Given the description of an element on the screen output the (x, y) to click on. 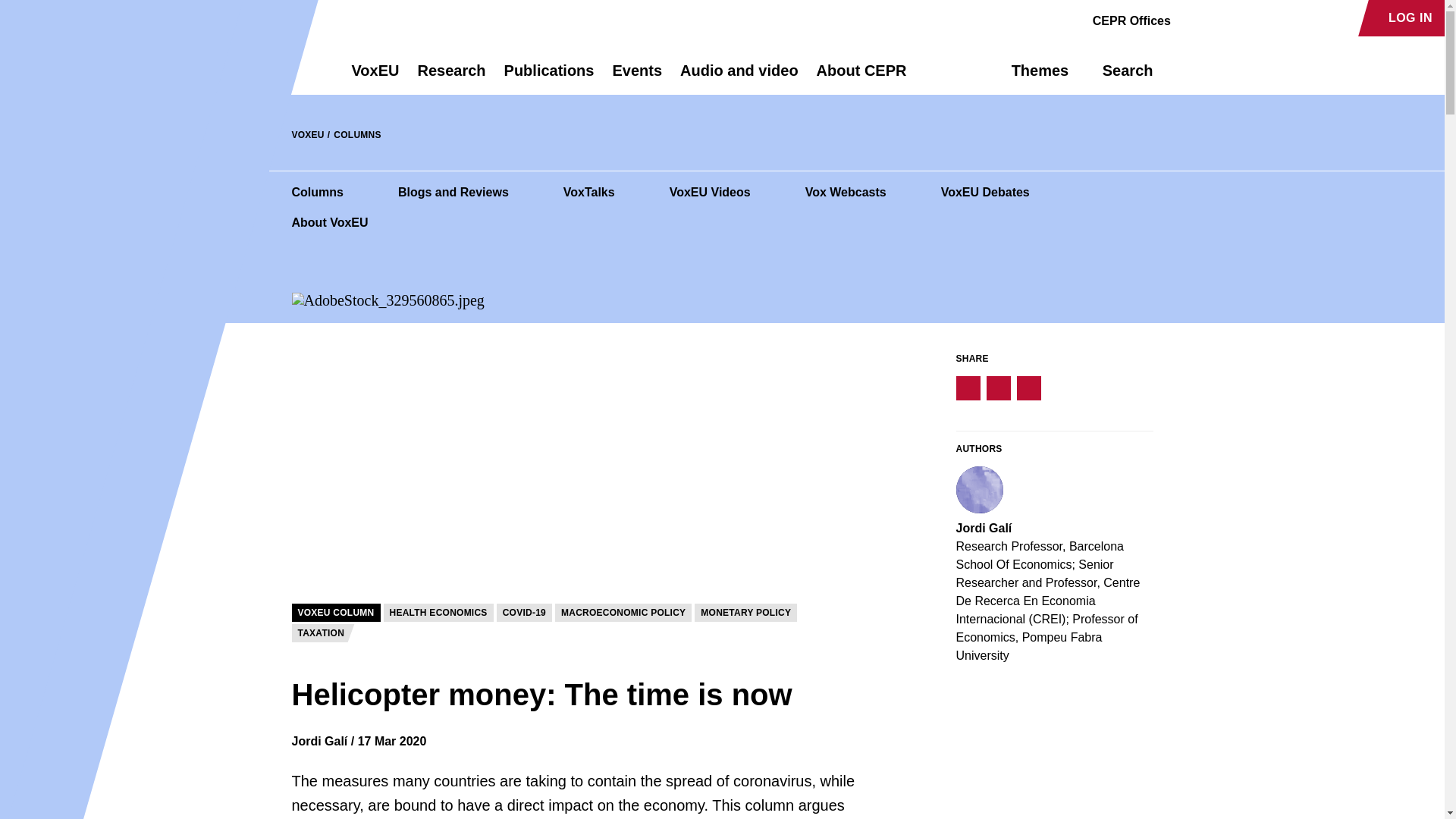
Research (450, 77)
Audio and video (738, 77)
Go to Linkedin profile (1243, 18)
Return to the homepage (293, 69)
Events (636, 77)
VoxEU (375, 77)
Publications (548, 77)
Go to Audioboom profile (1217, 17)
Go to Facebook profile (1190, 17)
